Given the description of an element on the screen output the (x, y) to click on. 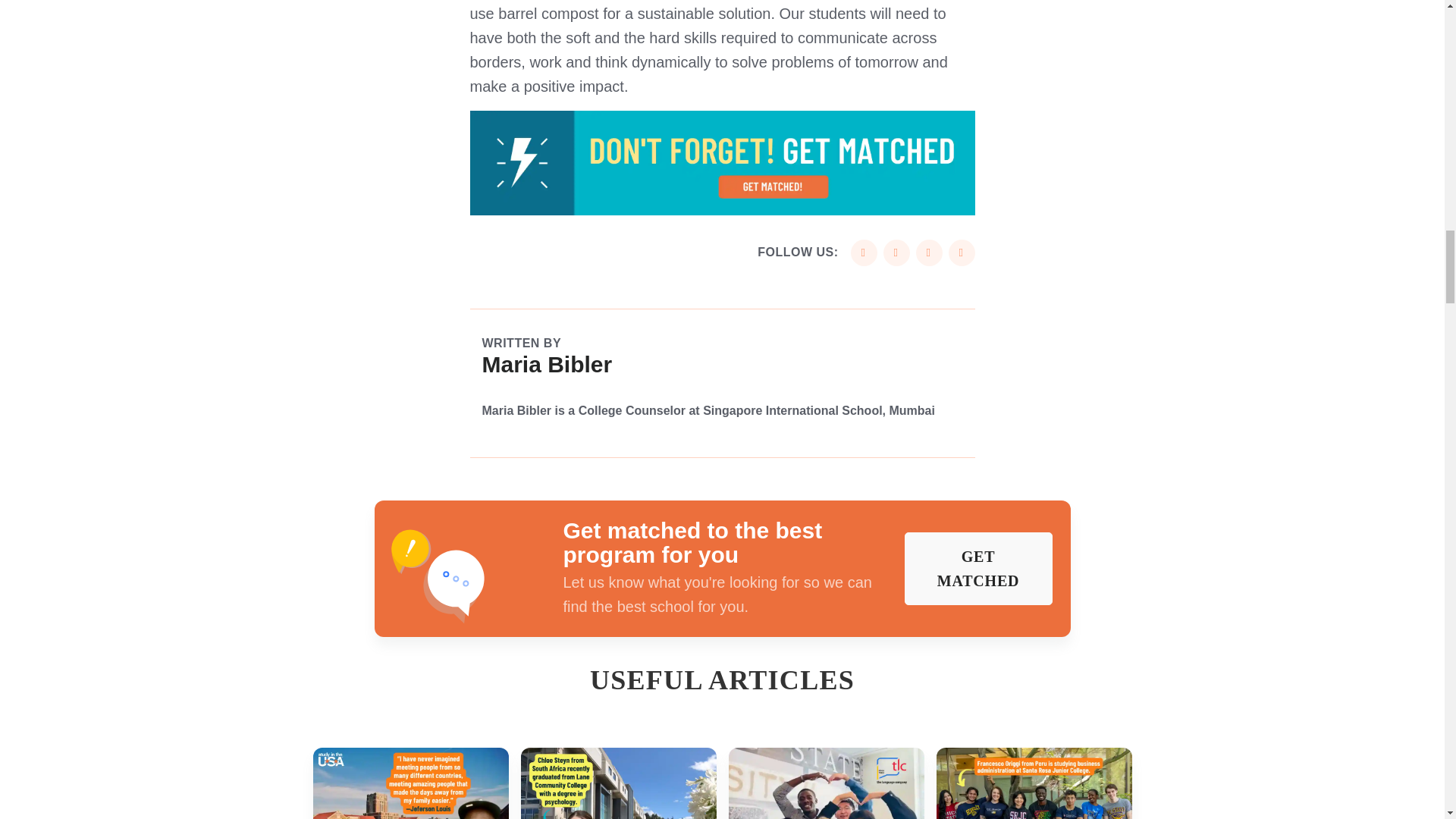
GET MATCHED (977, 568)
SMALL CLASSES, BIG DREAMS: CHLOE STEYN'S EXPERIENCE AT LANE (617, 783)
